Given the description of an element on the screen output the (x, y) to click on. 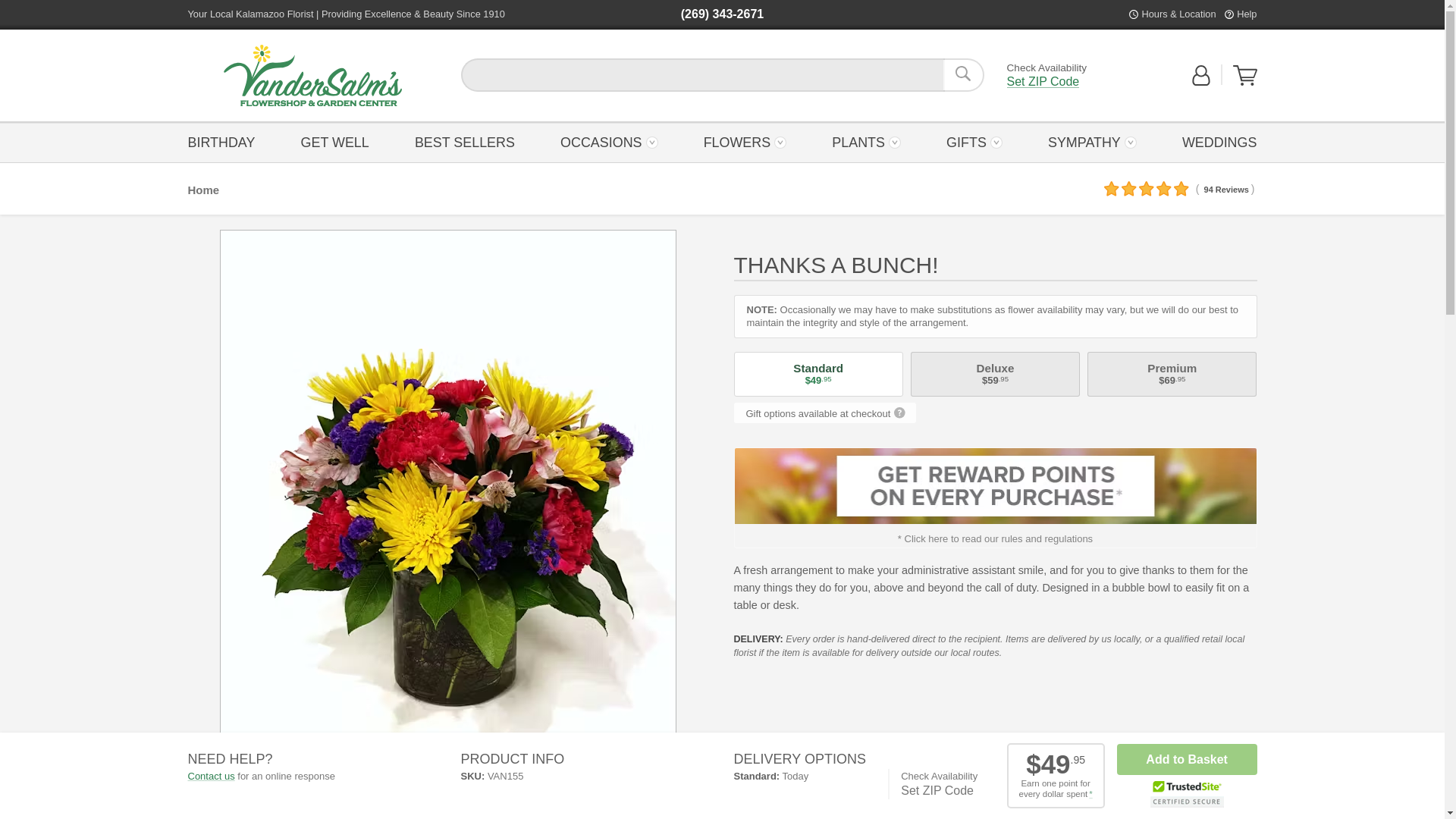
Help (1246, 13)
View Your Shopping Cart (1245, 82)
Vandersalm's Flowershop and Garden Center Logo (312, 75)
Set ZIP Code (1043, 81)
BEST SELLERS (464, 141)
Search (963, 74)
OCCASIONS (608, 141)
GET WELL (334, 141)
View Your Shopping Cart (1245, 75)
BIRTHDAY (225, 141)
